Given the description of an element on the screen output the (x, y) to click on. 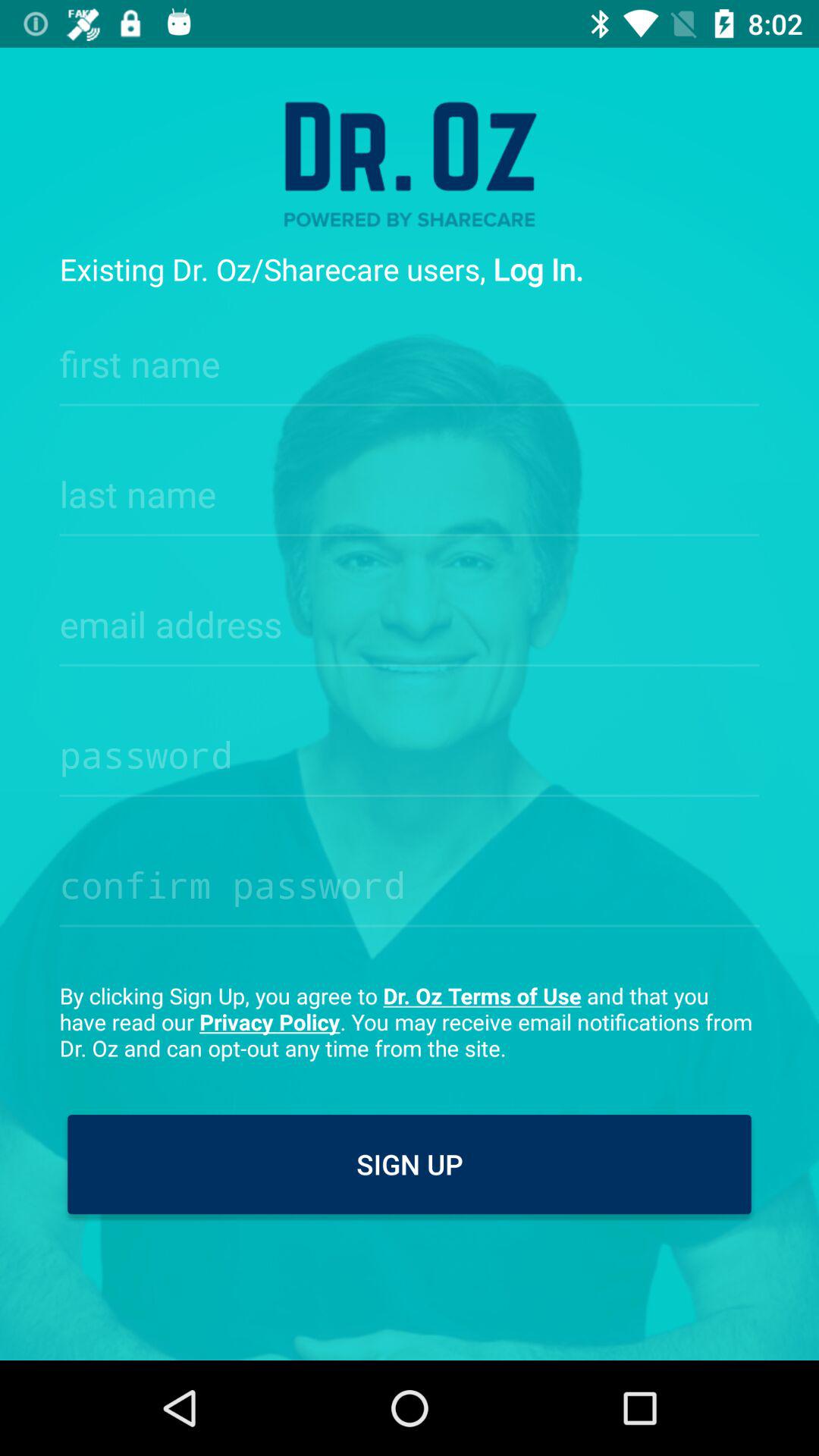
password input (409, 750)
